Given the description of an element on the screen output the (x, y) to click on. 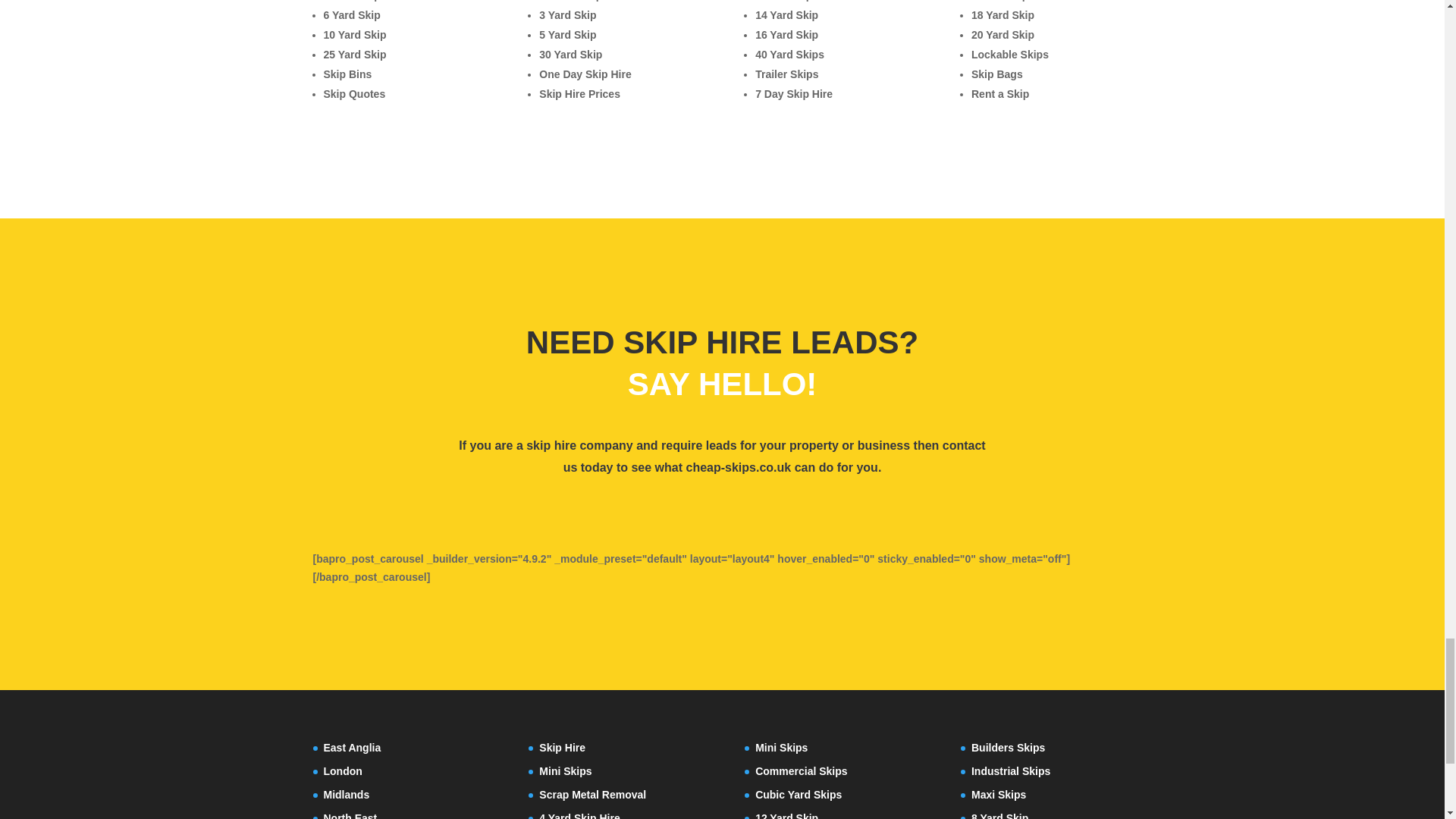
Midlands (346, 794)
North East (350, 815)
Commercial Skips (801, 770)
Mini Skips (564, 770)
London (342, 770)
East Anglia (351, 747)
4 Yard Skip Hire (579, 815)
